Given the description of an element on the screen output the (x, y) to click on. 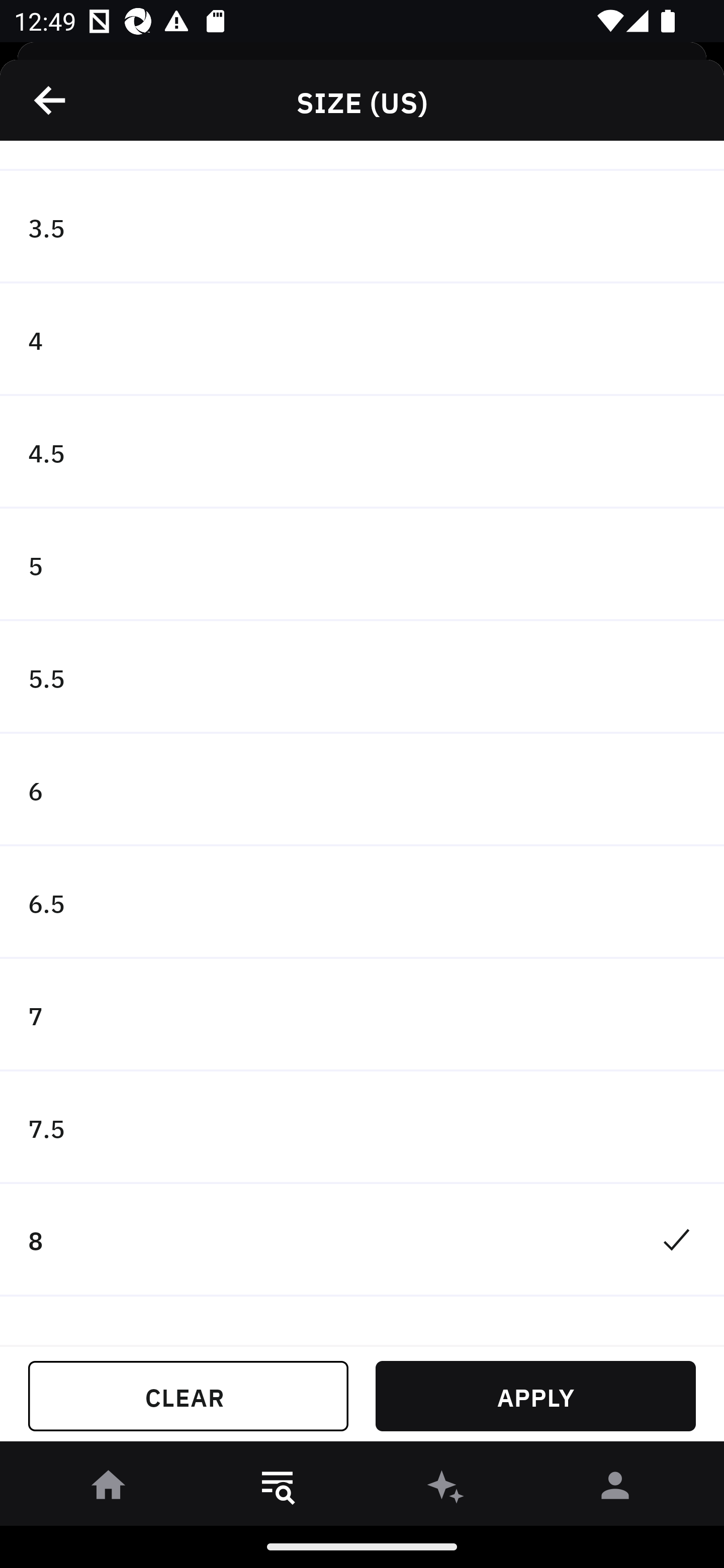
 (50, 100)
3.5 (362, 226)
4 (362, 339)
4.5 (362, 452)
5 (362, 564)
5.5 (362, 676)
6 (362, 789)
6.5 (362, 902)
7 (362, 1014)
7.5 (362, 1126)
8  (362, 1239)
CLEAR  (188, 1396)
APPLY (535, 1396)
󰋜 (108, 1488)
󱎸 (277, 1488)
󰫢 (446, 1488)
󰀄 (615, 1488)
